Given the description of an element on the screen output the (x, y) to click on. 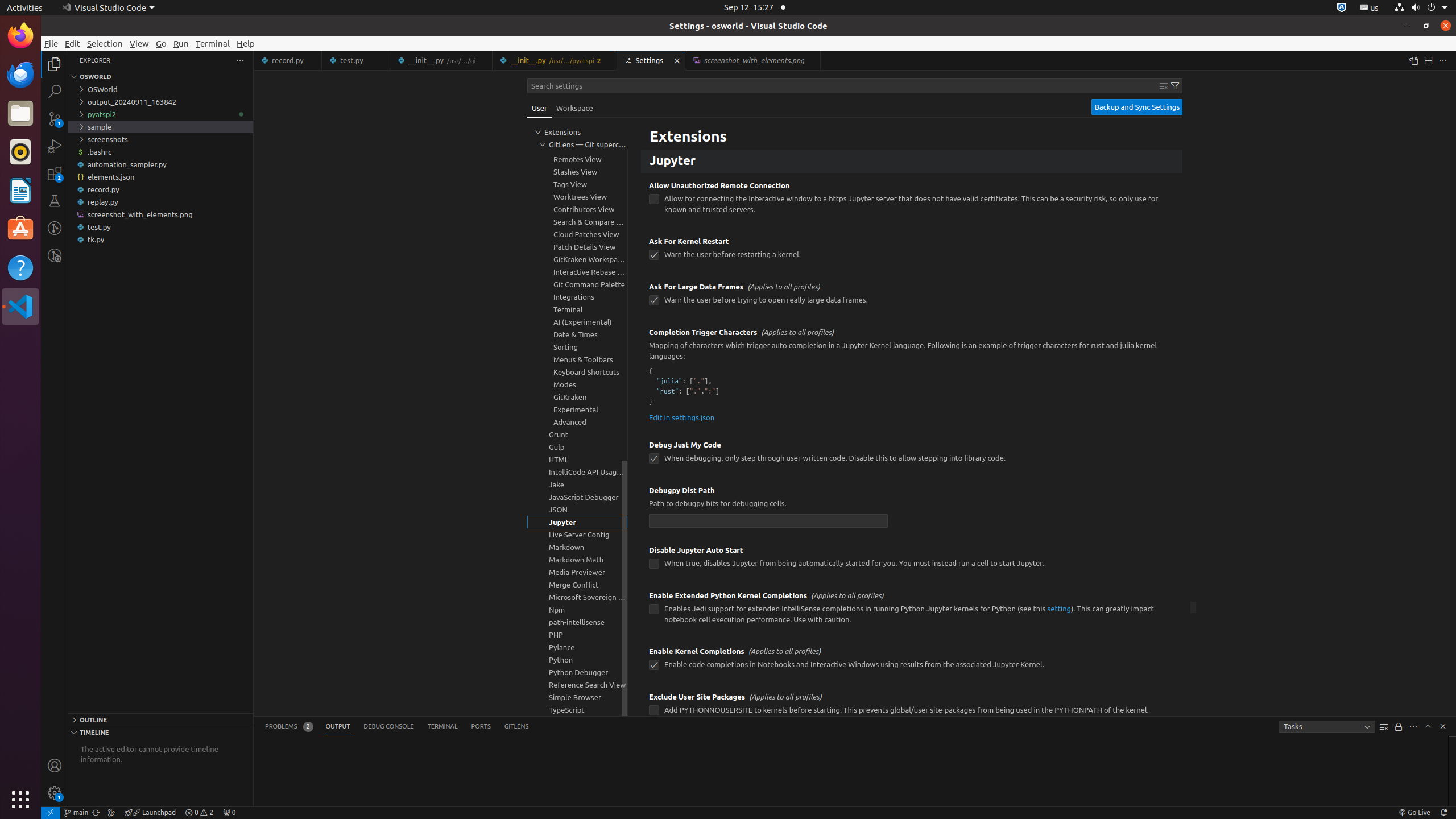
Cloud Patches View, group Element type: tree-item (577, 234)
Run and Debug (Ctrl+Shift+D) Element type: page-tab (54, 145)
Grunt, group Element type: tree-item (577, 434)
rocket gitlens-unplug Launchpad, GitLens Launchpad ᴘʀᴇᴠɪᴇᴡ    &mdash;    [$(question)](command:gitlens.launchpad.indicator.action?%22info%22 "What is this?") [$(gear)](command:workbench.action.openSettings?%22gitlens.launchpad%22 "Settings")  |  [$(circle-slash) Hide](command:gitlens.launchpad.indicator.action?%22hide%22 "Hide") --- [Launchpad](command:gitlens.launchpad.indicator.action?%info%22 "Learn about Launchpad") organizes your pull requests into actionable groups to help you focus and keep your team unblocked. It's always accessible using the `GitLens: Open Launchpad` command from the Command Palette. --- [Connect an integration](command:gitlens.showLaunchpad?%7B%22source%22%3A%22launchpad-indicator%22%7D "Connect an integration") to get started. Element type: push-button (150, 812)
Output (Ctrl+K Ctrl+H) Element type: page-tab (337, 726)
